Given the description of an element on the screen output the (x, y) to click on. 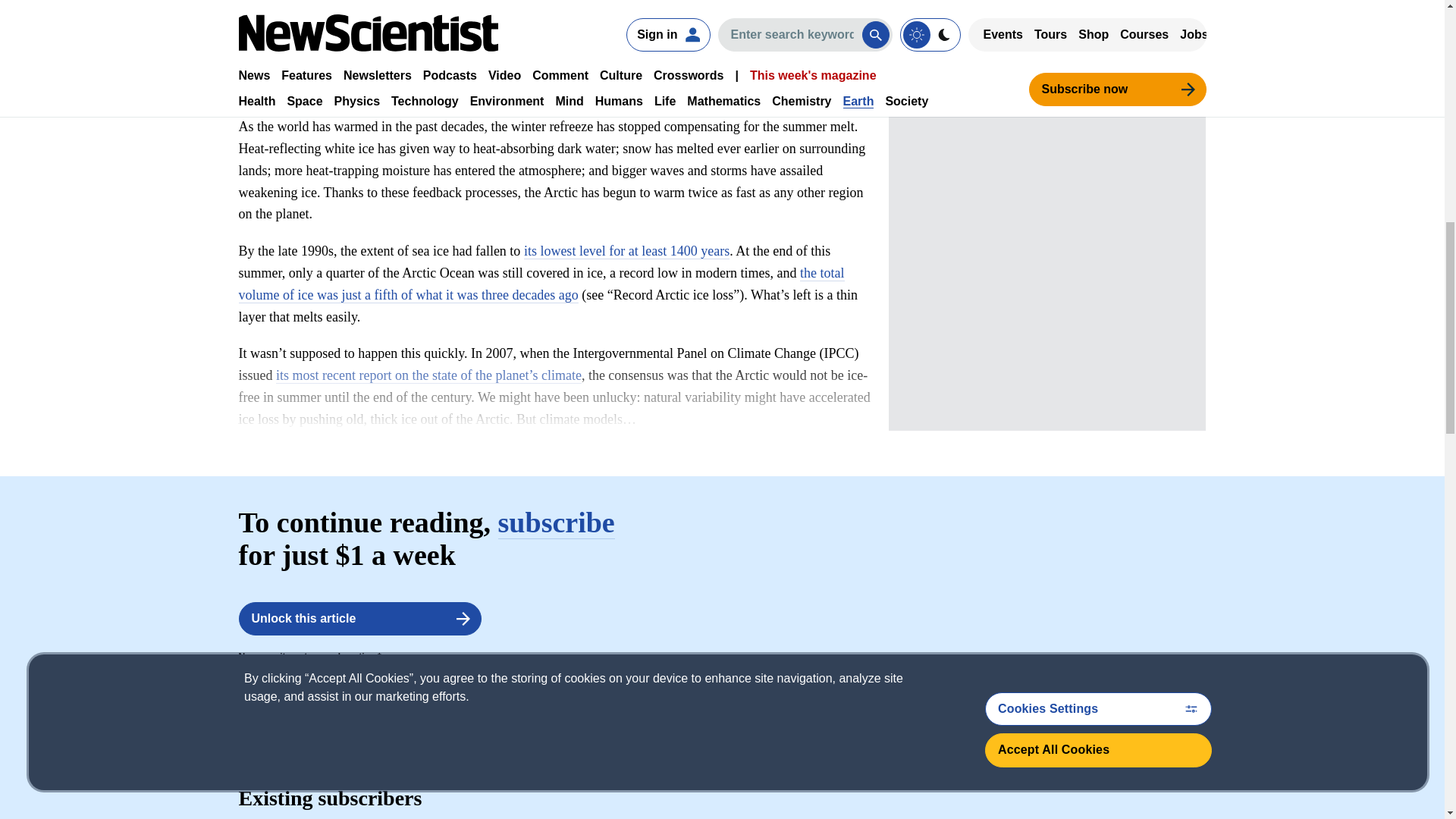
3rd party ad content (1046, 33)
